Given the description of an element on the screen output the (x, y) to click on. 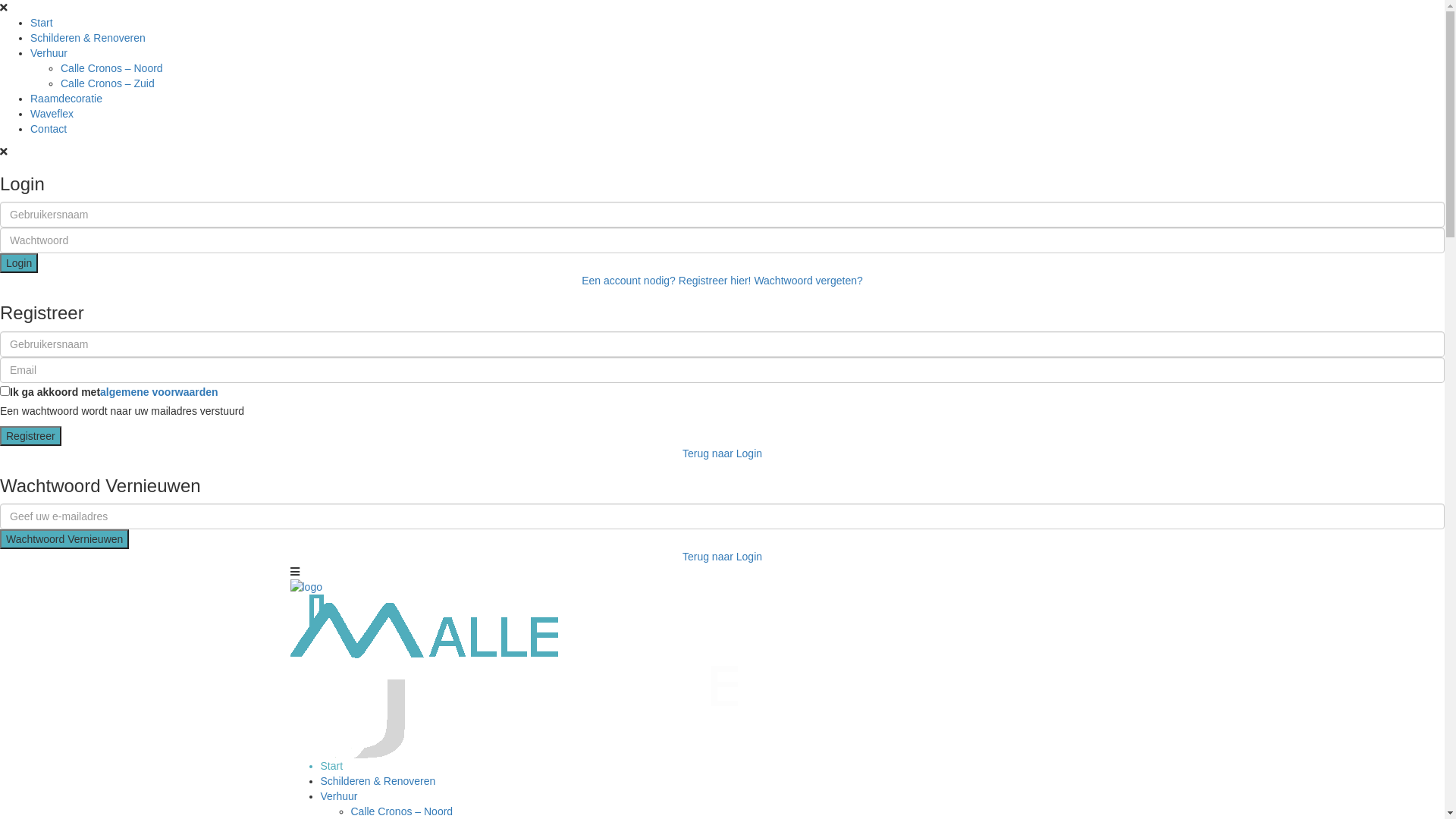
algemene voorwaarden Element type: text (159, 391)
Verhuur Element type: text (48, 53)
Schilderen & Renoveren Element type: text (87, 37)
Schilderen & Renoveren Element type: text (377, 781)
Terug naar Login Element type: text (722, 556)
Terug naar Login Element type: text (722, 453)
Verhuur Element type: text (338, 796)
Start Element type: text (41, 22)
Registreer Element type: text (30, 435)
Waveflex Element type: text (51, 113)
Een account nodig? Registreer hier! Element type: text (665, 280)
Start Element type: text (331, 765)
Contact Element type: text (48, 128)
Raamdecoratie Element type: text (66, 98)
Wachtwoord Vernieuwen Element type: text (64, 539)
Login Element type: text (18, 263)
Wachtwoord vergeten? Element type: text (807, 280)
